Given the description of an element on the screen output the (x, y) to click on. 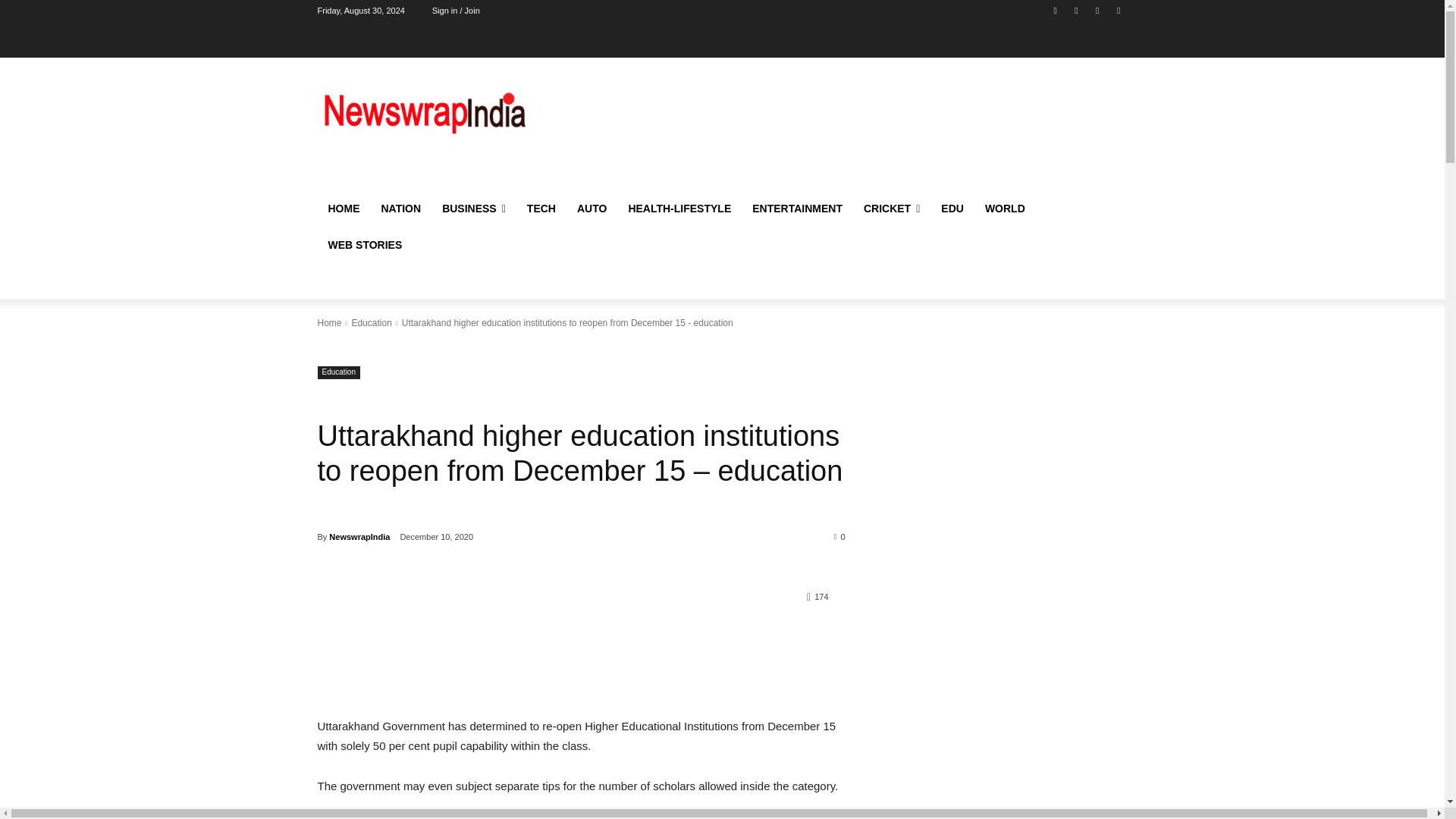
AUTO (591, 208)
View all posts in Education (370, 322)
Google News (1117, 9)
ENTERTAINMENT (797, 208)
Facebook (1055, 9)
HOME (343, 208)
CRICKET (891, 208)
Youtube (1097, 9)
NATION (399, 208)
BUSINESS (473, 208)
